Given the description of an element on the screen output the (x, y) to click on. 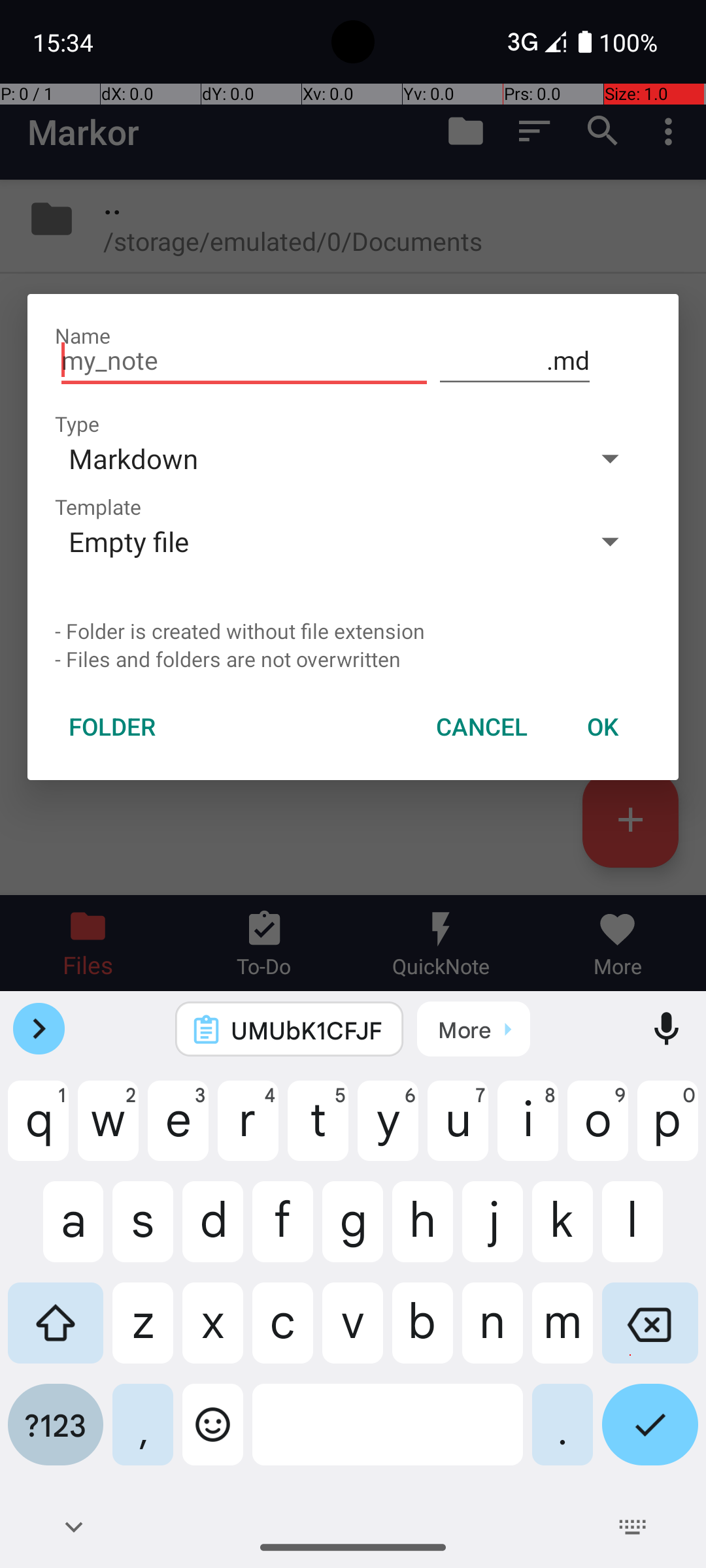
my_note Element type: android.widget.EditText (243, 360)
.md Element type: android.widget.EditText (514, 360)
Empty file Element type: android.widget.TextView (311, 540)
UMUbK1CFJF Element type: android.widget.TextView (306, 1029)
